Given the description of an element on the screen output the (x, y) to click on. 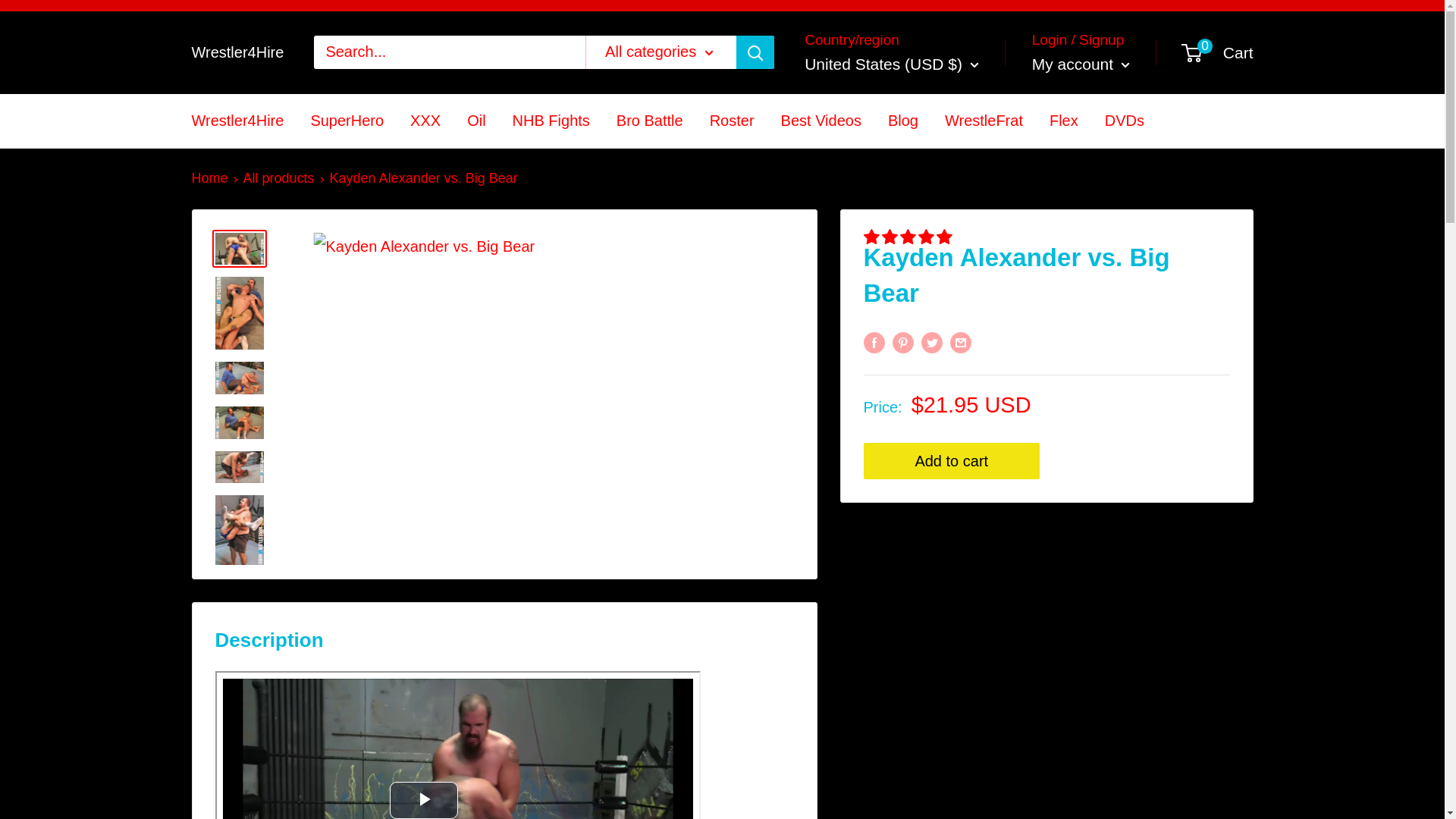
AW (819, 401)
AX (819, 147)
Wrestler4Hire (236, 52)
BD (819, 599)
DZ (819, 204)
BH (819, 571)
AU (819, 458)
AC (819, 429)
AL (819, 175)
AD (819, 232)
